Given the description of an element on the screen output the (x, y) to click on. 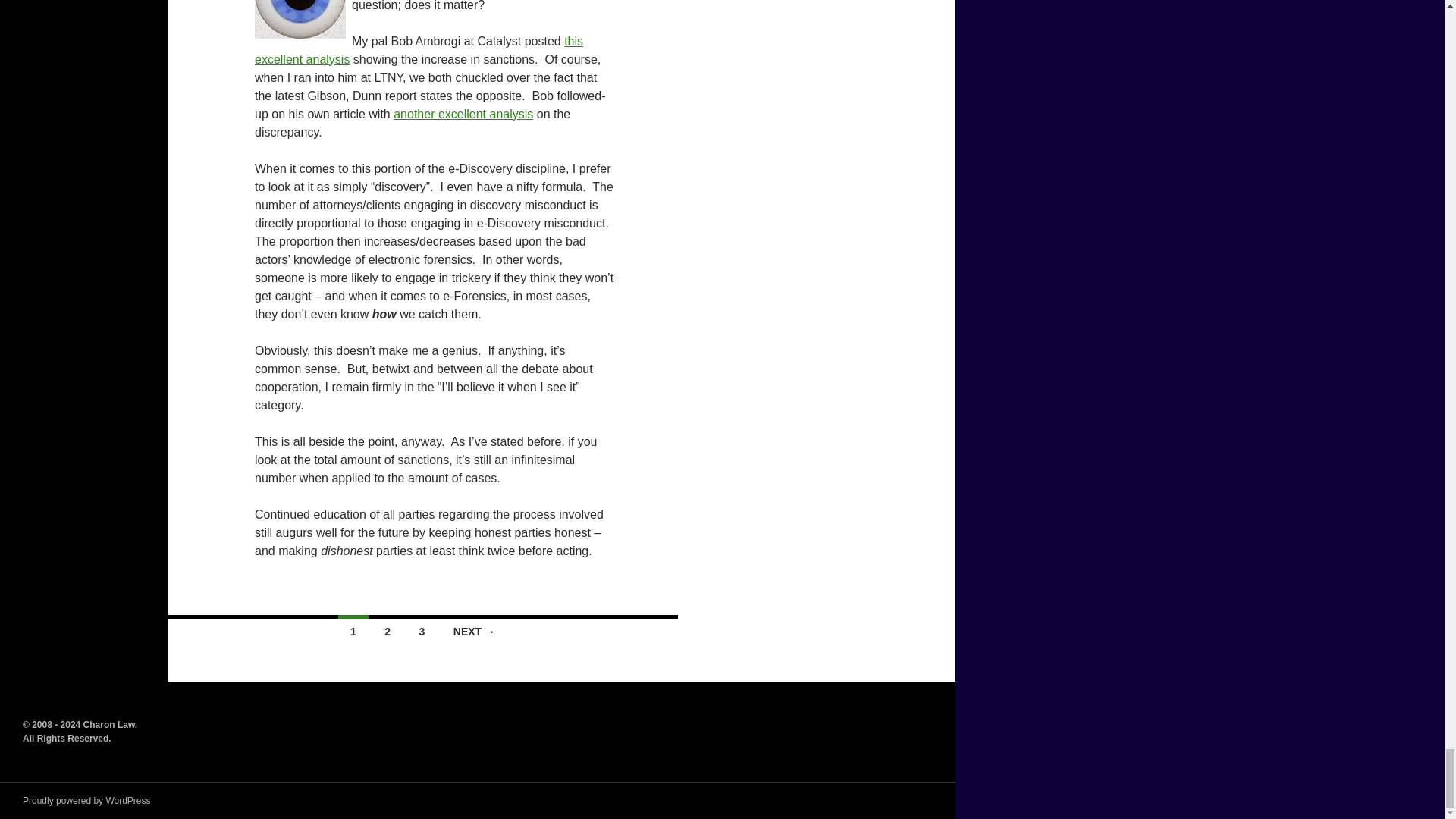
MP900442519 (300, 19)
